Given the description of an element on the screen output the (x, y) to click on. 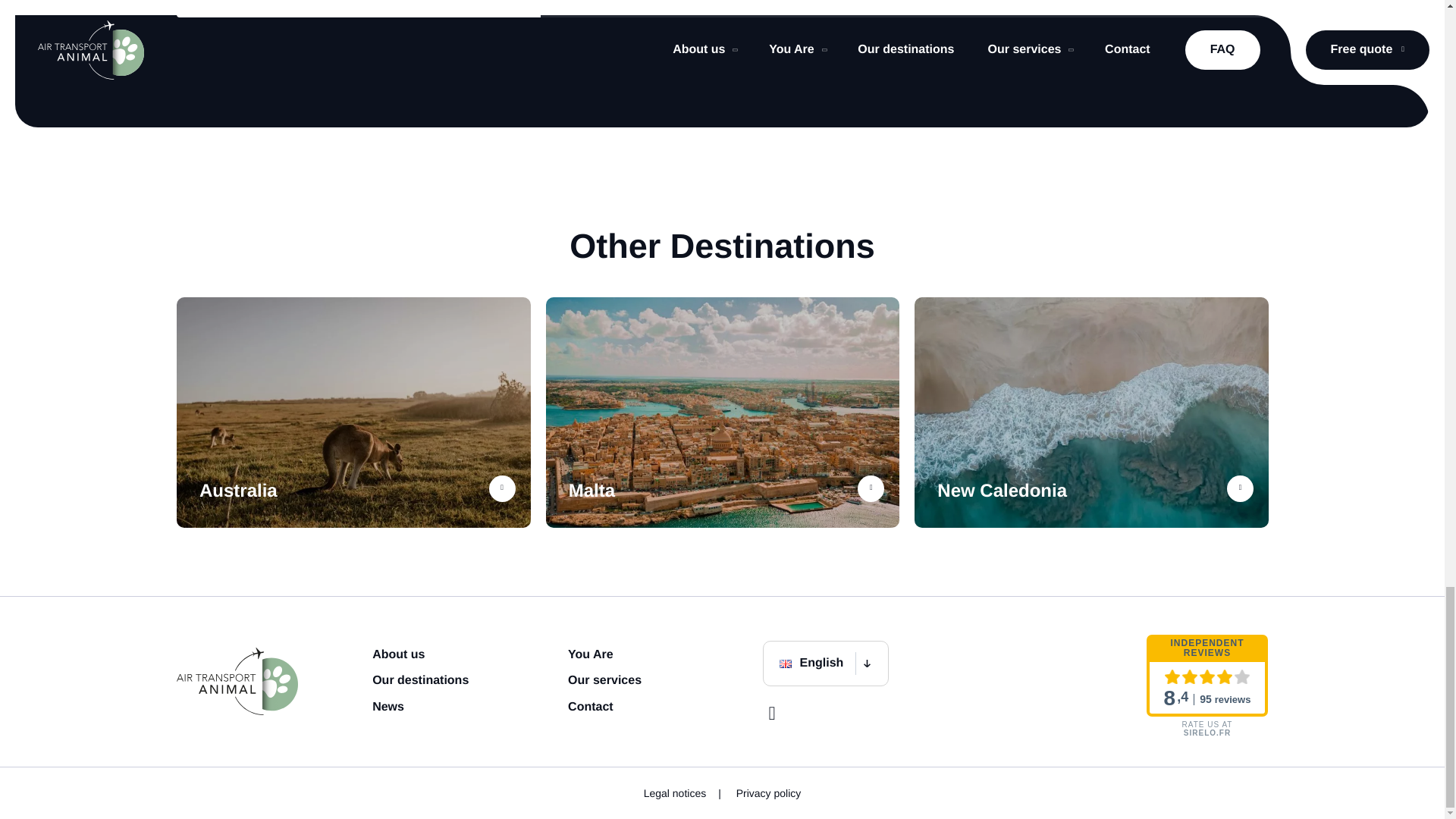
New Caledonia (1091, 412)
Australia (353, 412)
Malta (722, 412)
